Given the description of an element on the screen output the (x, y) to click on. 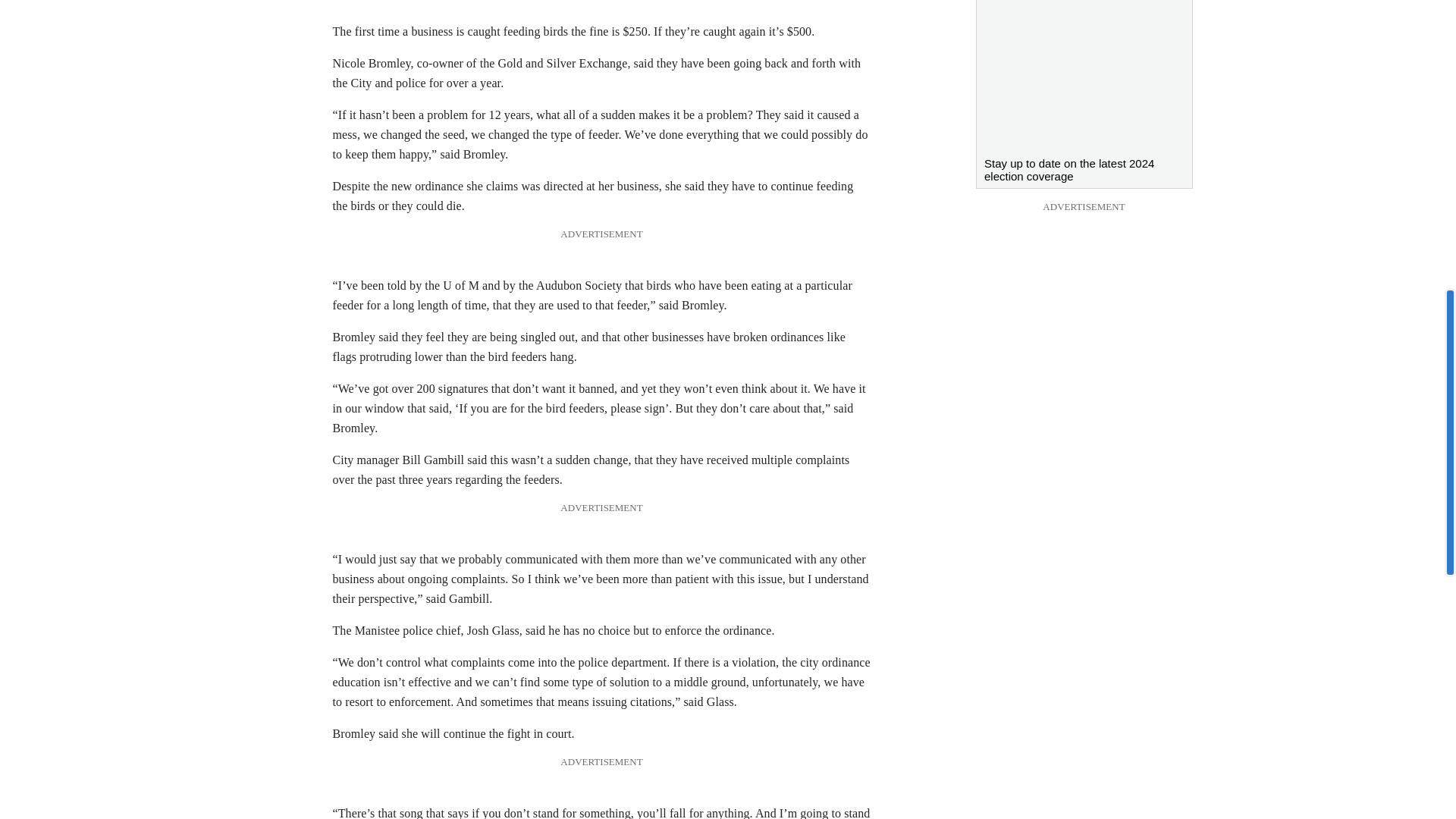
Election 2024 Coverage (1084, 165)
Election 2024 Coverage (1084, 74)
